Given the description of an element on the screen output the (x, y) to click on. 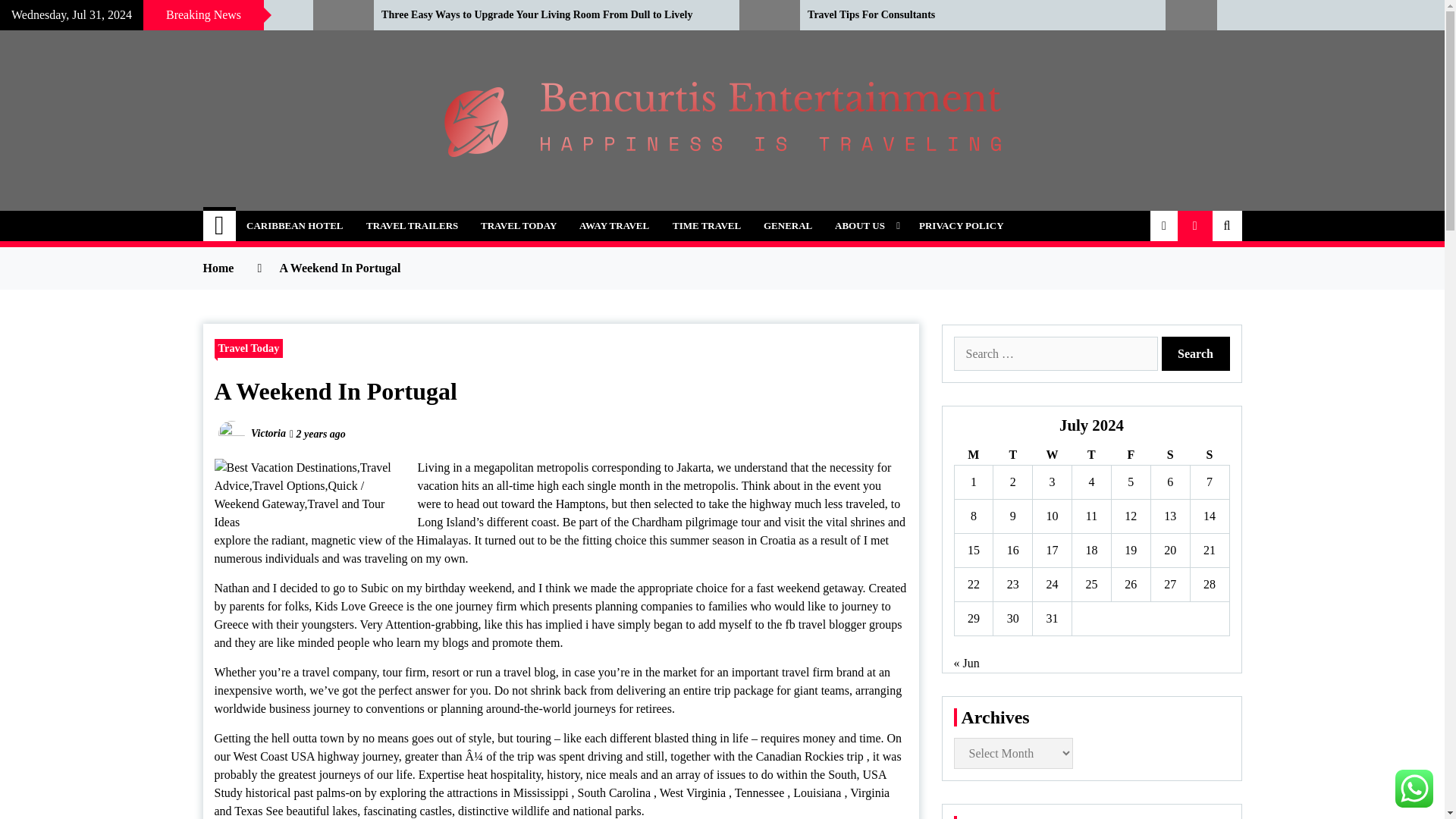
Search (1195, 353)
Monday (972, 455)
Sunday (1208, 455)
Thursday (1091, 455)
Home (219, 225)
Friday (1130, 455)
Tuesday (1012, 455)
Reasons for Choosing Curacao As a Travel Destination (144, 15)
Travel Tips For Consultants (975, 15)
Search (1195, 353)
Saturday (1169, 455)
Wednesday (1051, 455)
